Given the description of an element on the screen output the (x, y) to click on. 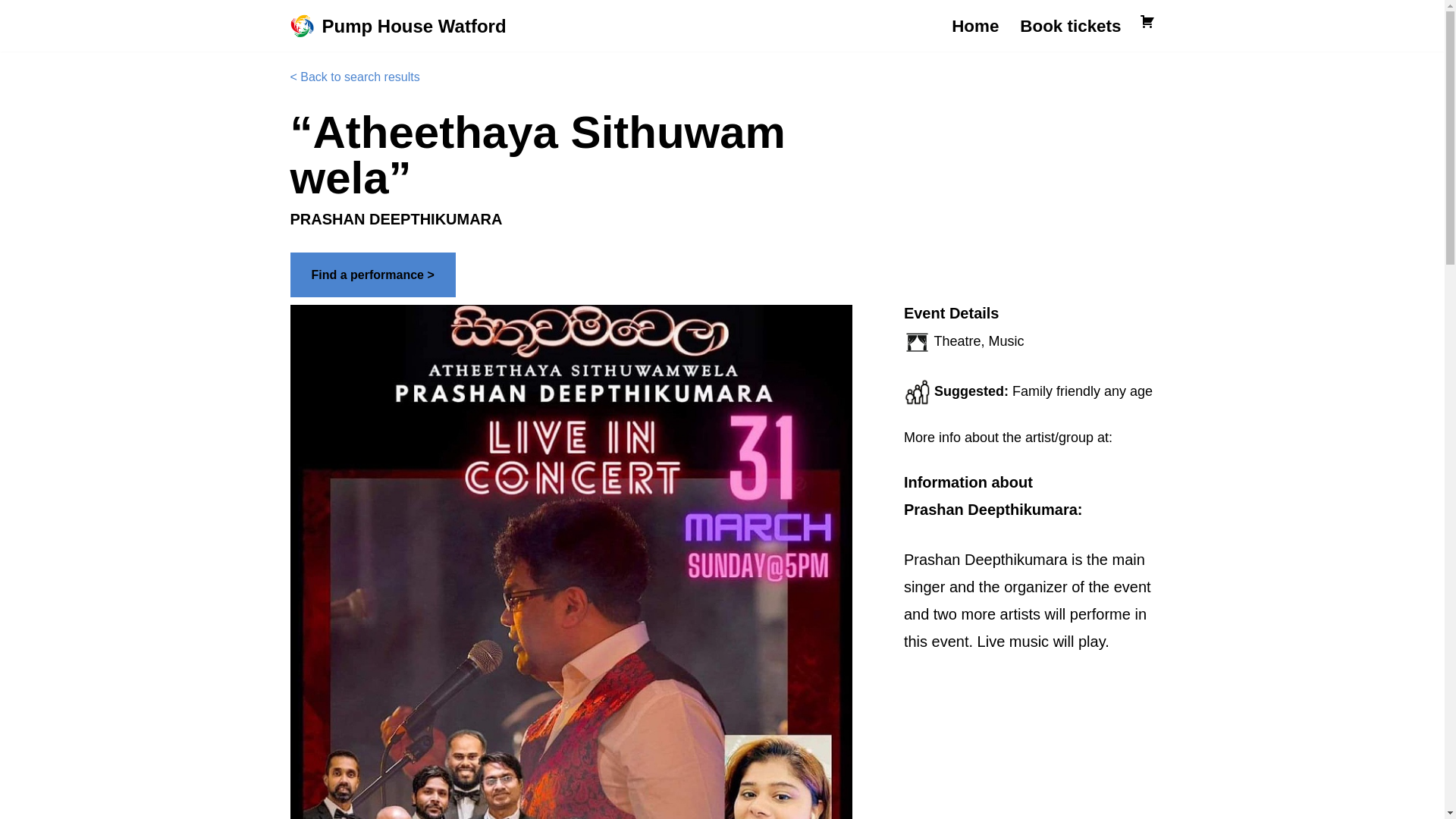
Book tickets (1070, 26)
Home (975, 26)
Skip to content (11, 31)
